Given the description of an element on the screen output the (x, y) to click on. 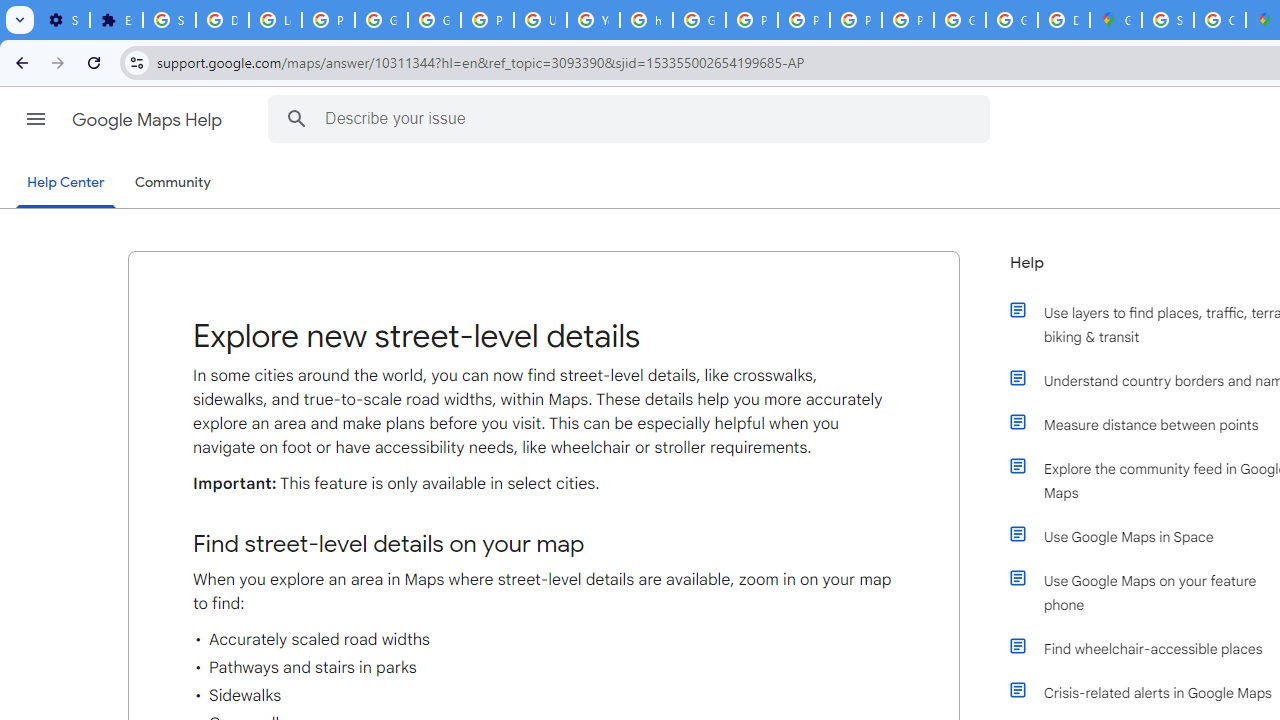
Search Help Center (297, 118)
Create your Google Account (1219, 20)
Settings - On startup (63, 20)
https://scholar.google.com/ (646, 20)
Google Maps (1115, 20)
Describe your issue (632, 118)
Google Account Help (381, 20)
